Given the description of an element on the screen output the (x, y) to click on. 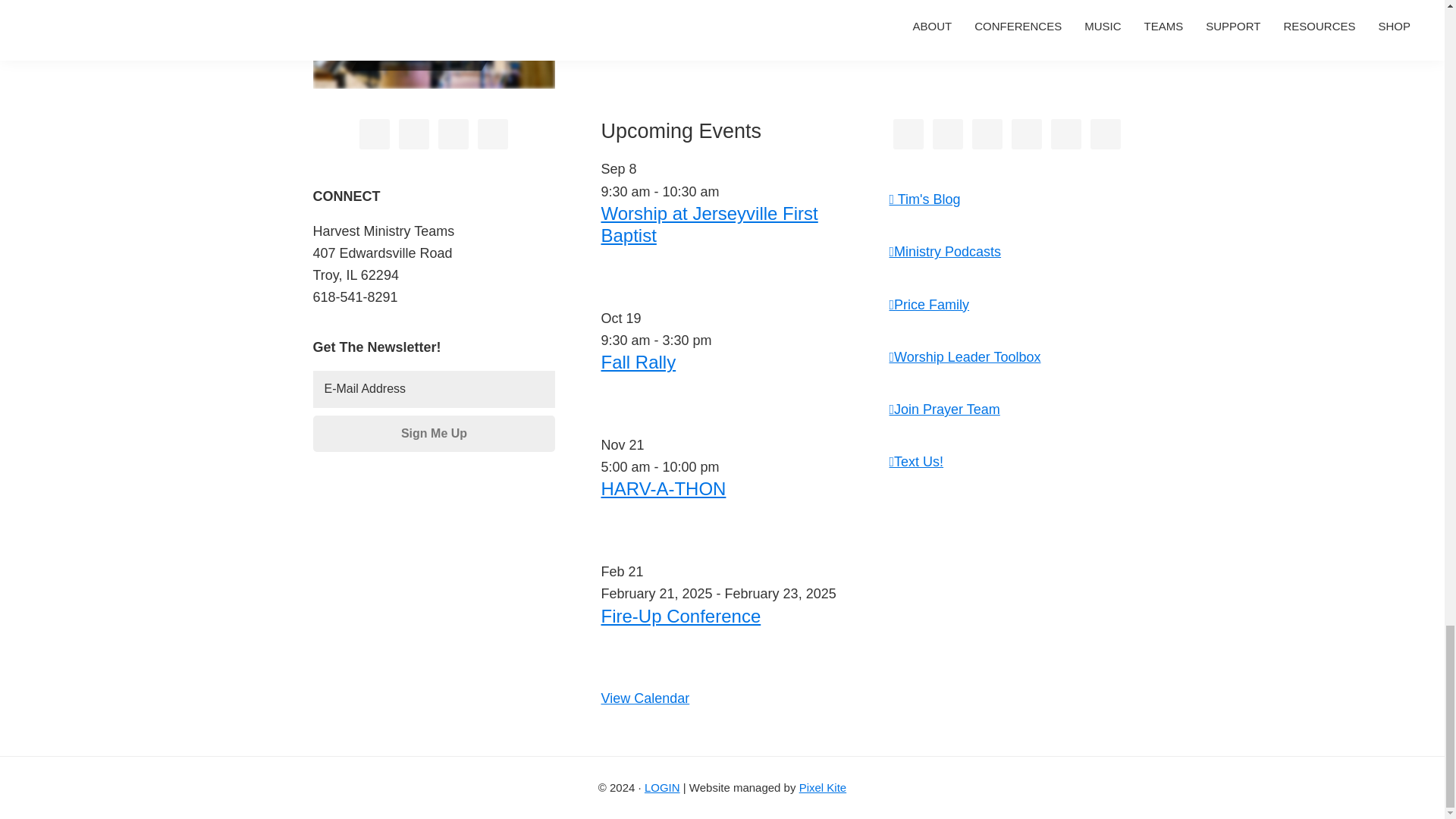
View more events. (643, 698)
Fall Rally (637, 362)
Sign Me Up (433, 433)
HARV-A-THON (662, 488)
Worship at Jerseyville First Baptist (707, 224)
Fire-Up Conference (679, 616)
